Given the description of an element on the screen output the (x, y) to click on. 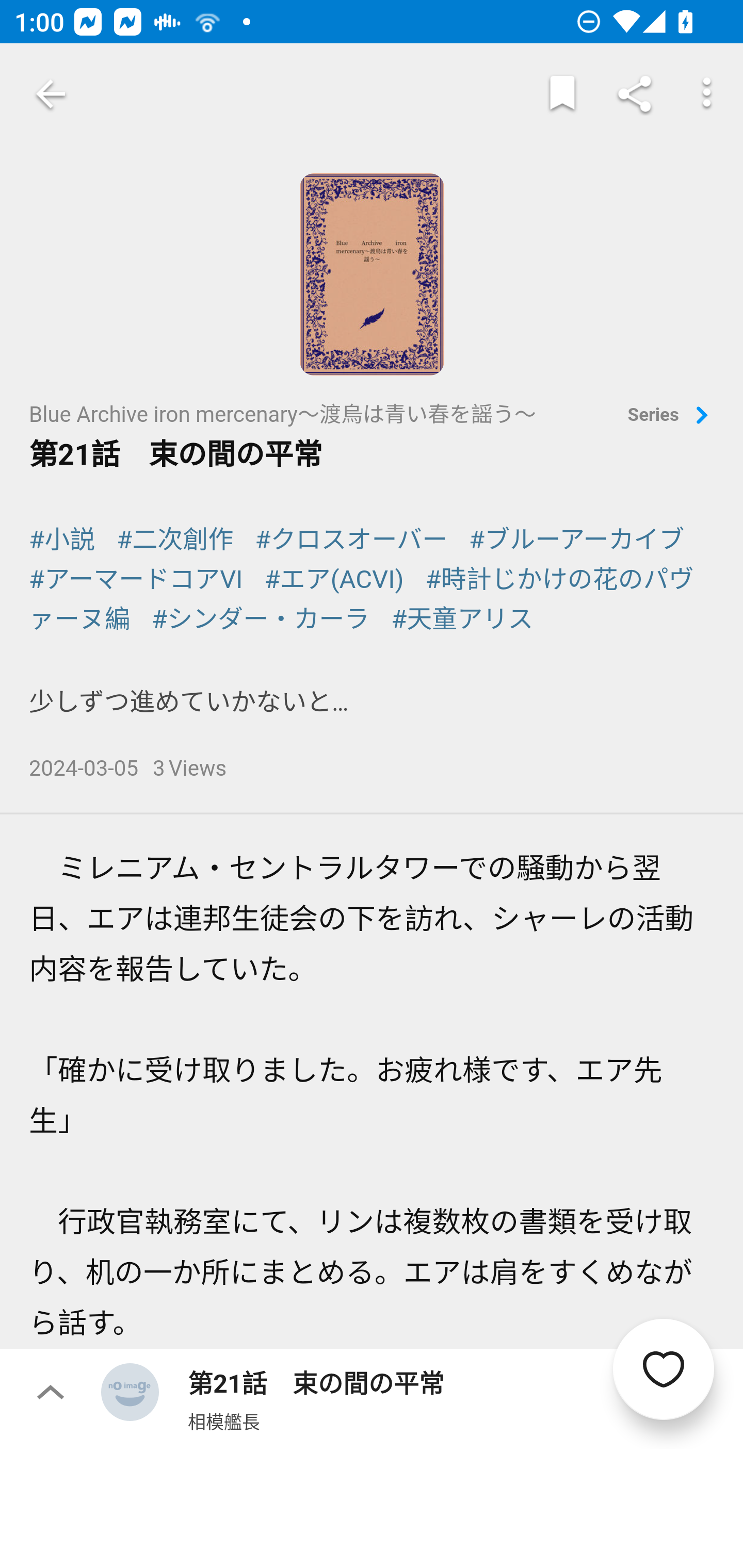
Navigate up (50, 93)
Markers (562, 93)
Share (634, 93)
More options (706, 93)
Series (671, 416)
#小説 (61, 539)
#二次創作 (174, 539)
#クロスオーバー (351, 539)
#ブルーアーカイブ (576, 539)
#アーマードコアⅥ (135, 578)
#時計じかけの花のパヴァーヌ編 (361, 598)
#エア(ACVI) (333, 578)
#シンダー・カーラ (260, 619)
#天童アリス (462, 619)
相模艦長 (223, 1421)
